Given the description of an element on the screen output the (x, y) to click on. 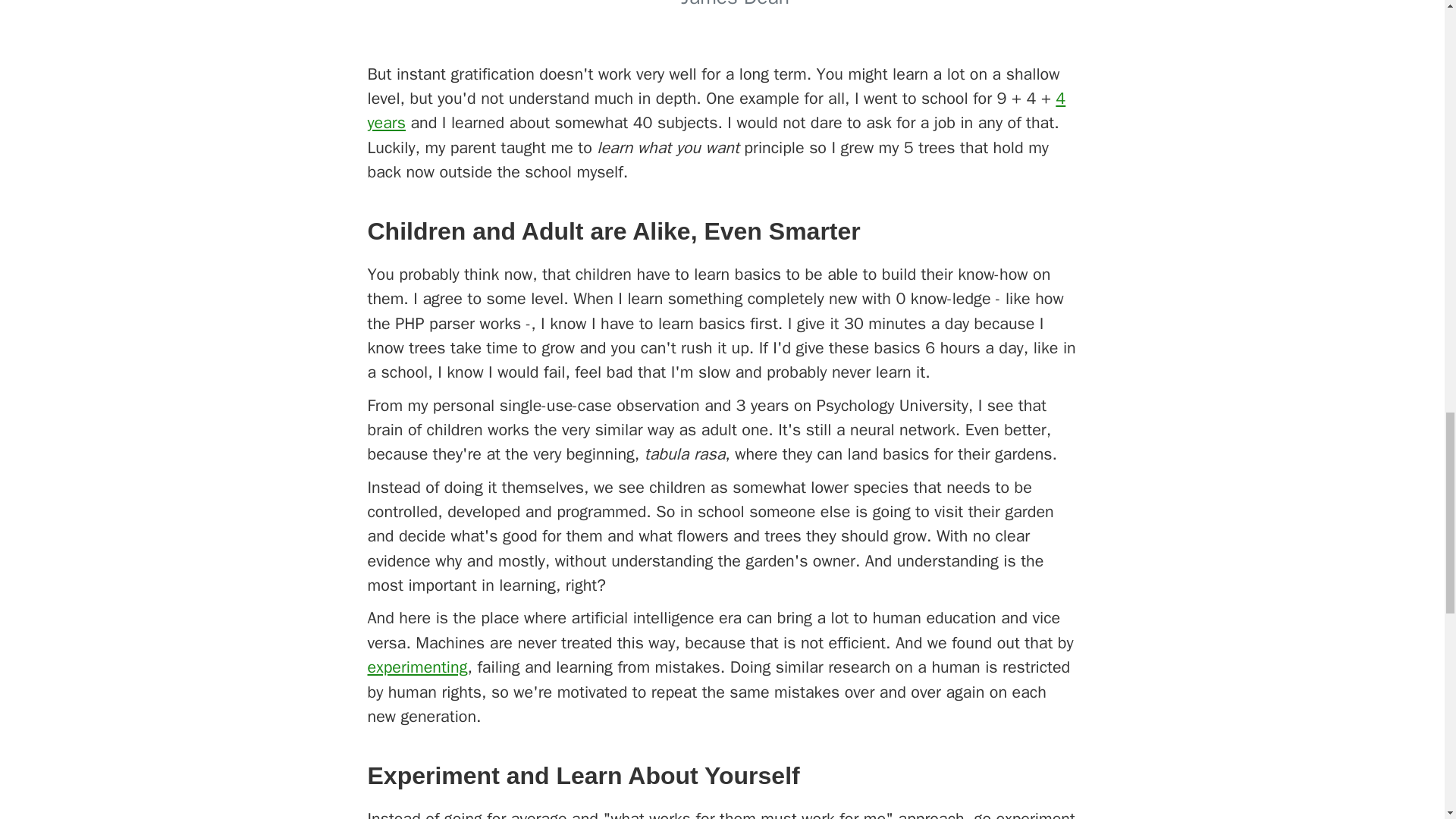
4 years (715, 109)
experimenting (416, 666)
